Given the description of an element on the screen output the (x, y) to click on. 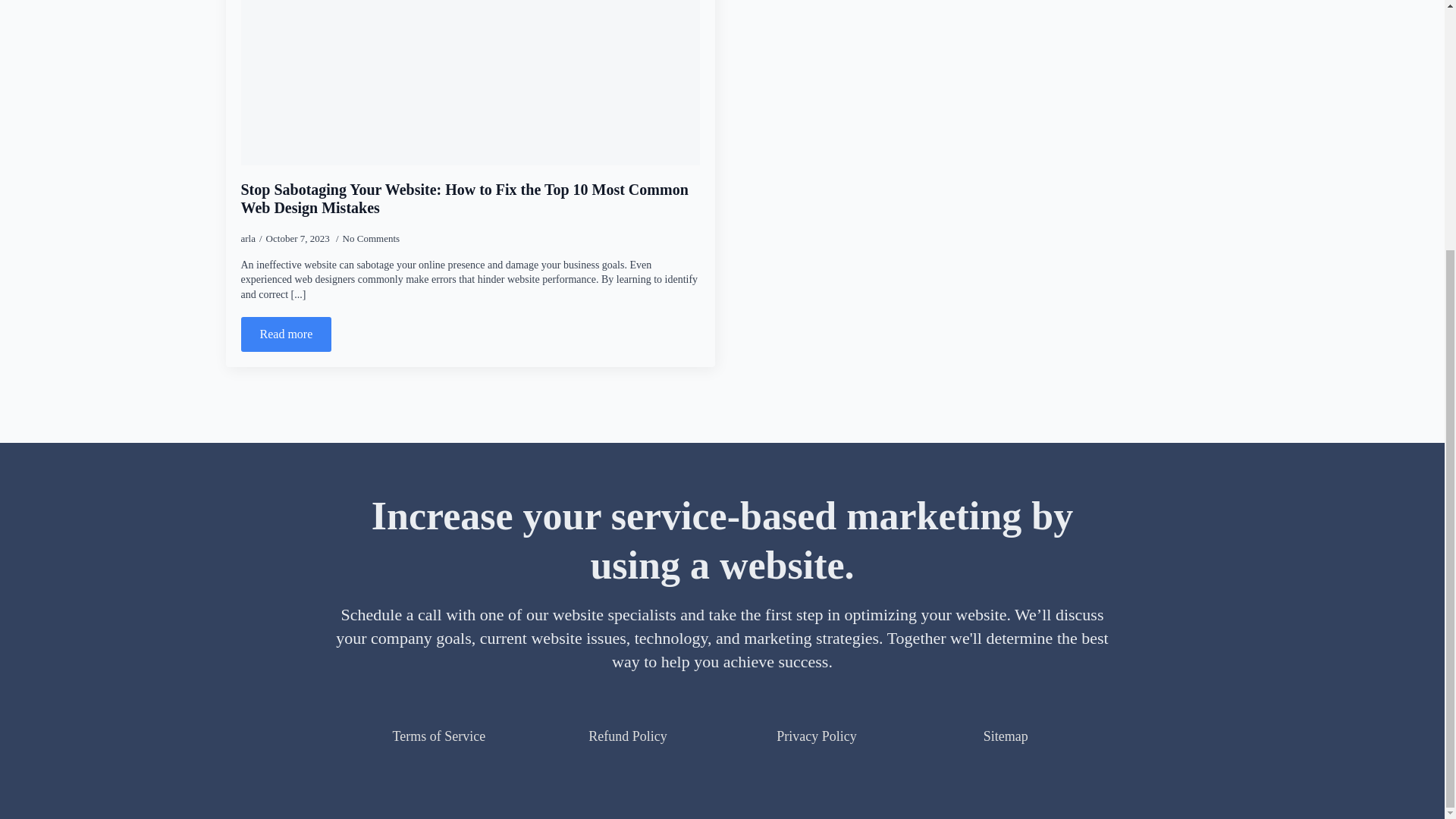
Sitemap (1005, 736)
Privacy Policy (816, 736)
Refund Policy (627, 736)
Read more (286, 334)
Terms of Service (437, 736)
